Given the description of an element on the screen output the (x, y) to click on. 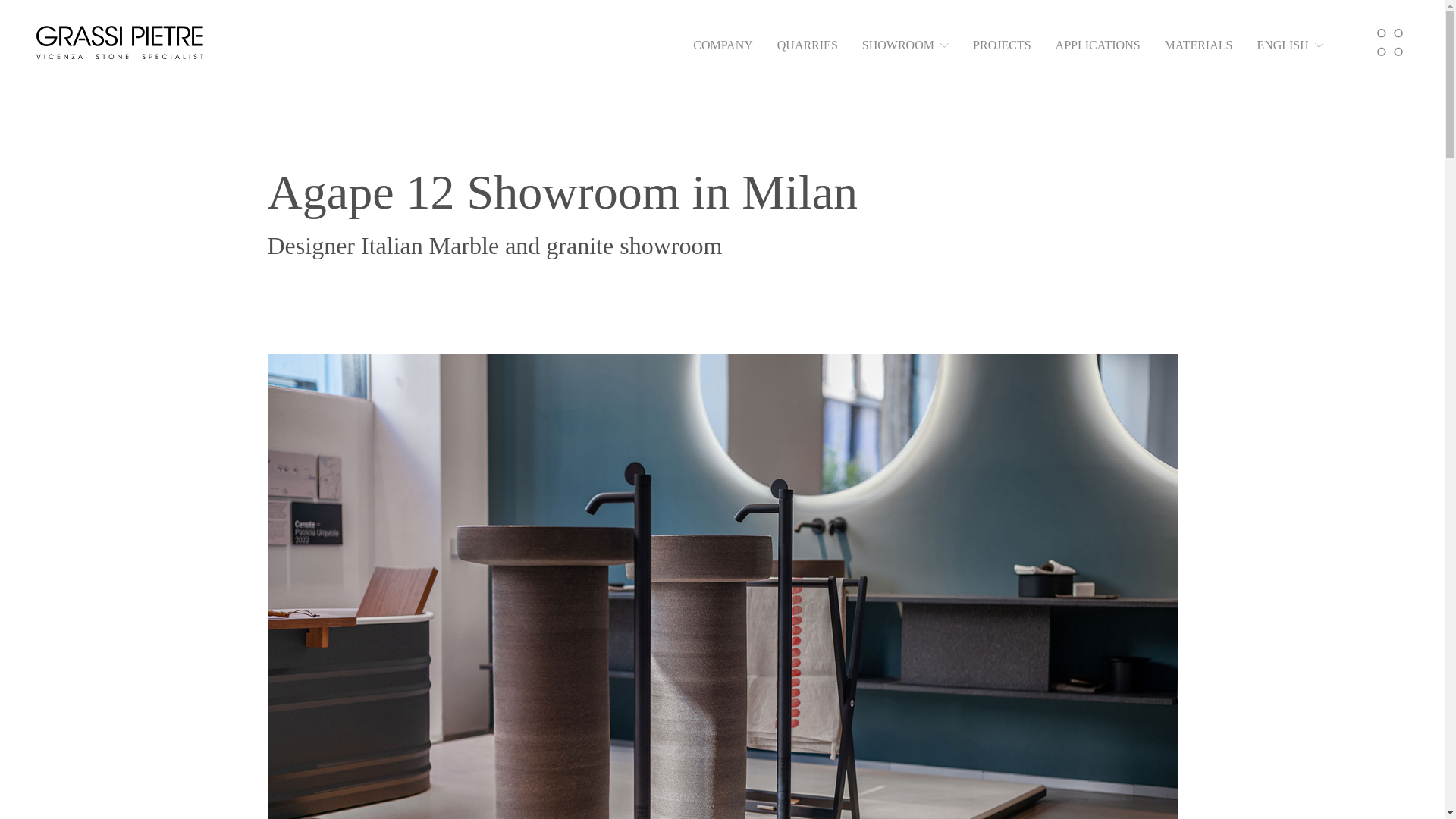
ENGLISH (1289, 45)
PROJECTS (1001, 45)
MATERIALS (1198, 45)
English (1289, 45)
COMPANY (722, 45)
SHOWROOM (905, 45)
APPLICATIONS (1097, 45)
QUARRIES (807, 45)
